Given the description of an element on the screen output the (x, y) to click on. 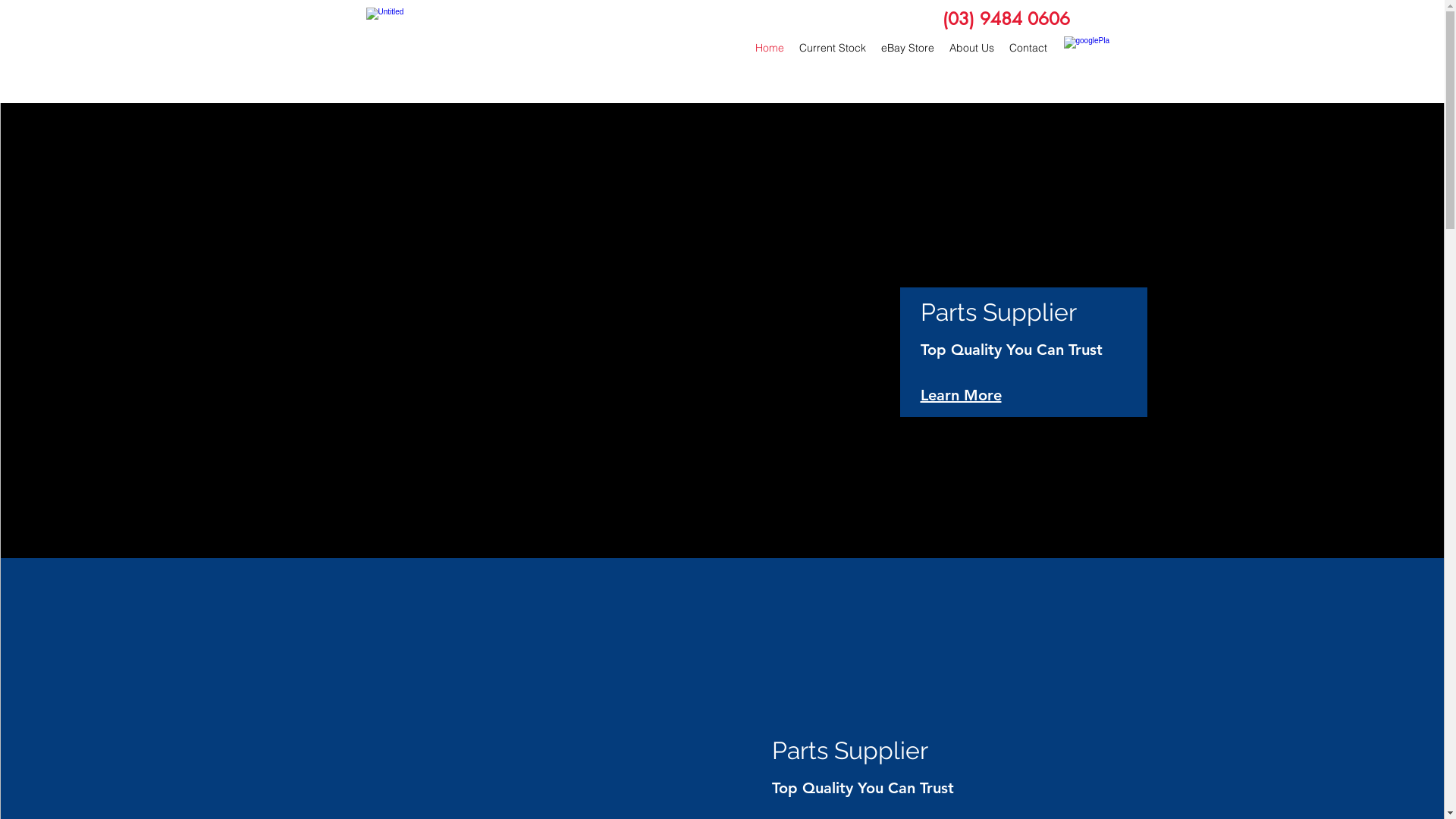
About Us Element type: text (971, 47)
Contact Element type: text (1027, 47)
Home Element type: text (769, 47)
eBay Store Element type: text (907, 47)
Current Stock Element type: text (832, 47)
Learn More Element type: text (960, 394)
